Given the description of an element on the screen output the (x, y) to click on. 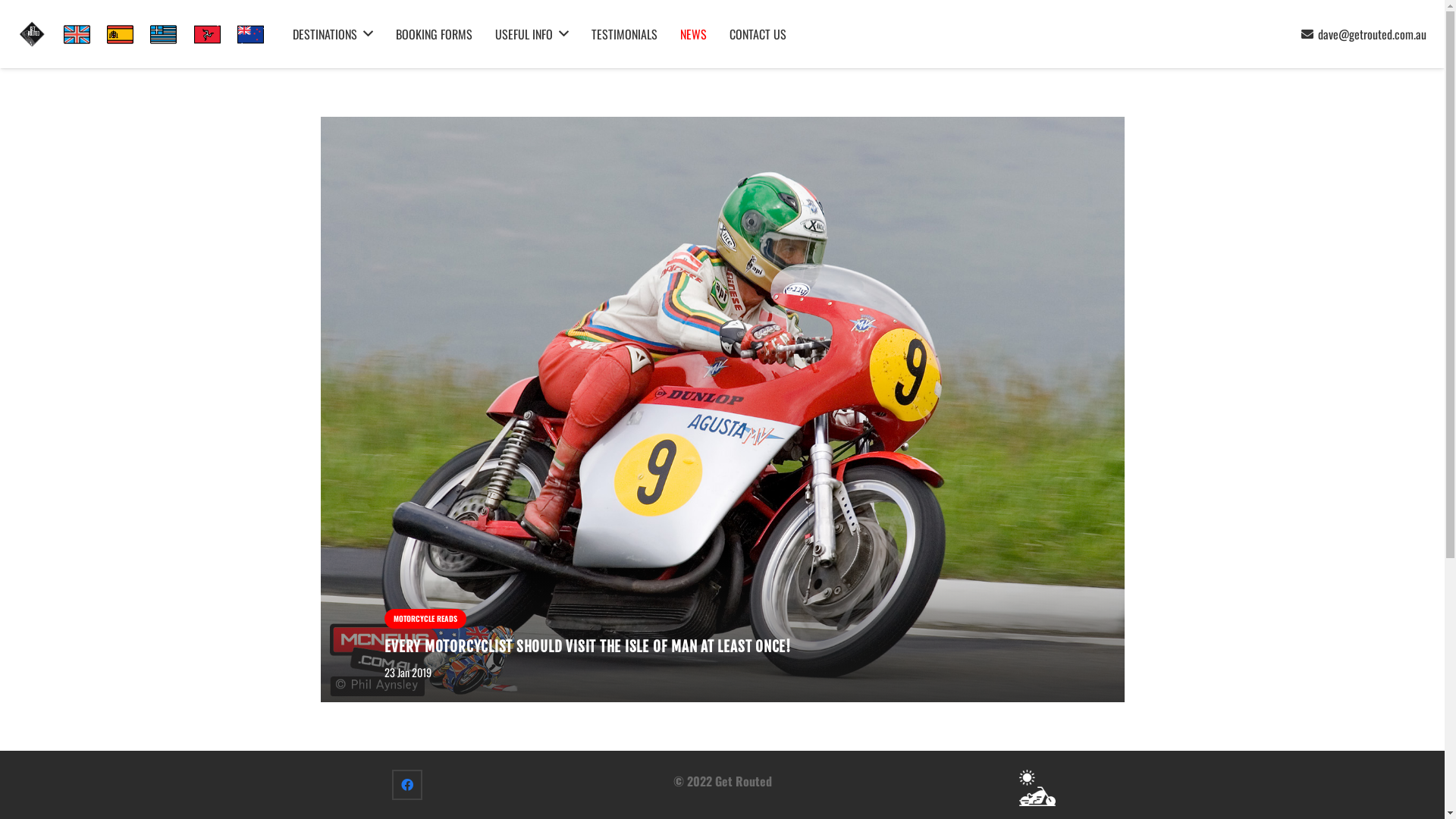
DESTINATIONS Element type: text (332, 34)
USEFUL INFO Element type: text (531, 34)
CONTACT US Element type: text (757, 34)
NEWS Element type: text (693, 34)
MOTORCYCLE READS Element type: text (425, 618)
TESTIMONIALS Element type: text (624, 34)
Facebook Element type: hover (407, 784)
BOOKING FORMS Element type: text (433, 34)
